Given the description of an element on the screen output the (x, y) to click on. 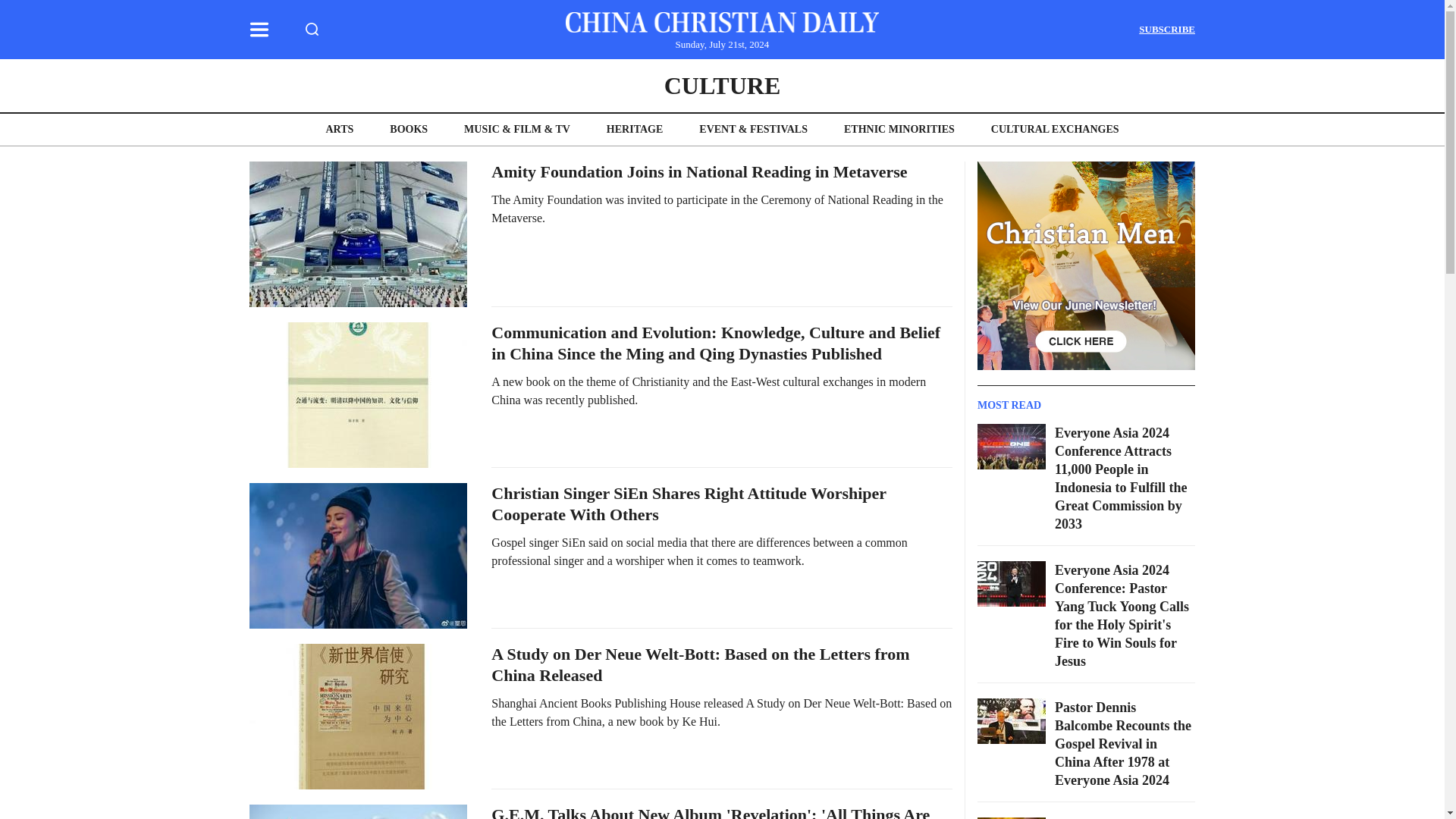
CULTURE (721, 85)
HERITAGE (634, 129)
Amity Foundation Joins in National Reading in Metaverse (699, 171)
ARTS (338, 129)
CULTURAL EXCHANGES (1055, 129)
ETHNIC MINORITIES (899, 129)
BOOKS (409, 129)
